Given the description of an element on the screen output the (x, y) to click on. 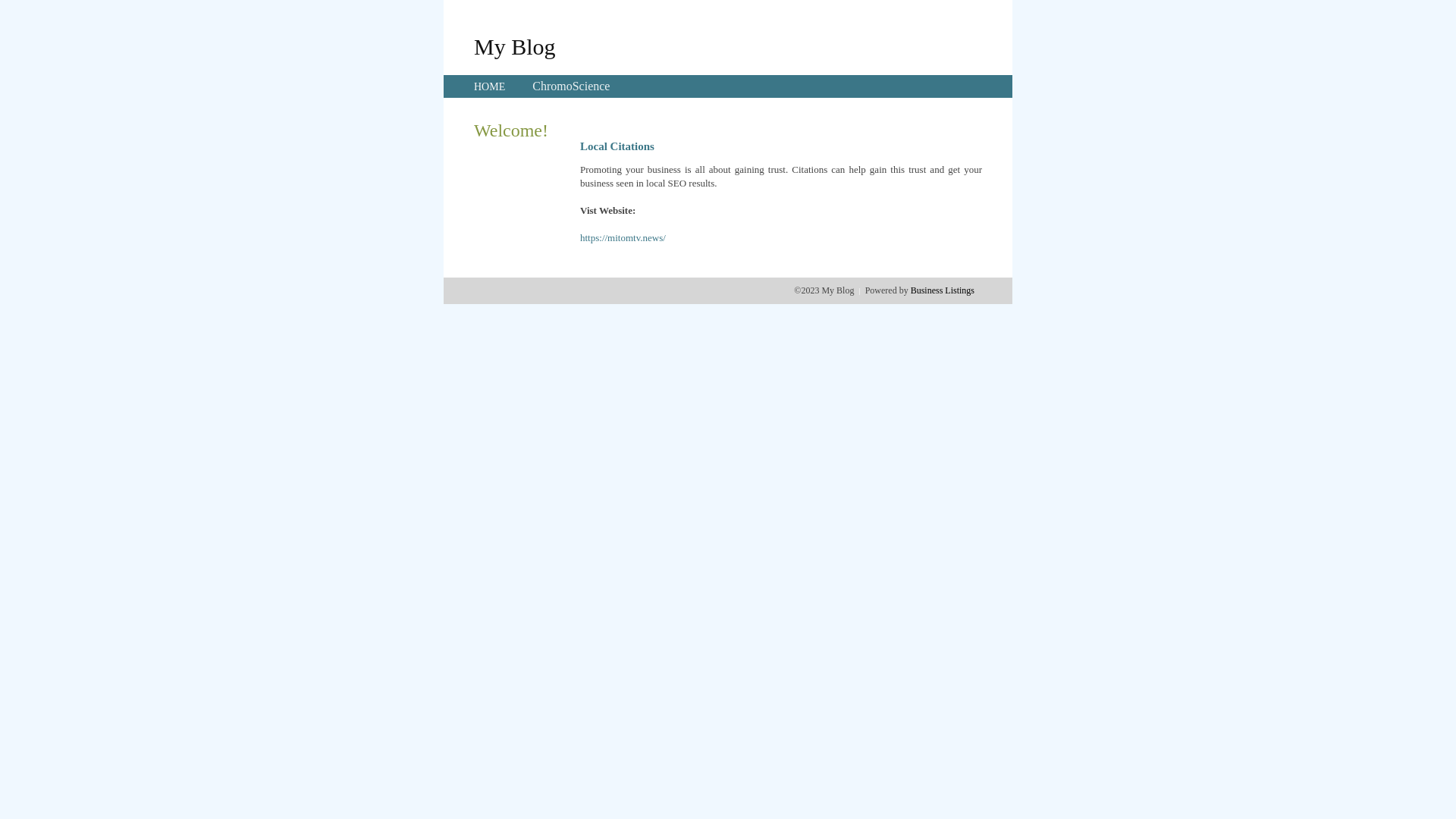
https://mitomtv.news/ Element type: text (622, 237)
HOME Element type: text (489, 86)
My Blog Element type: text (514, 46)
Business Listings Element type: text (942, 290)
ChromoScience Element type: text (570, 85)
